Given the description of an element on the screen output the (x, y) to click on. 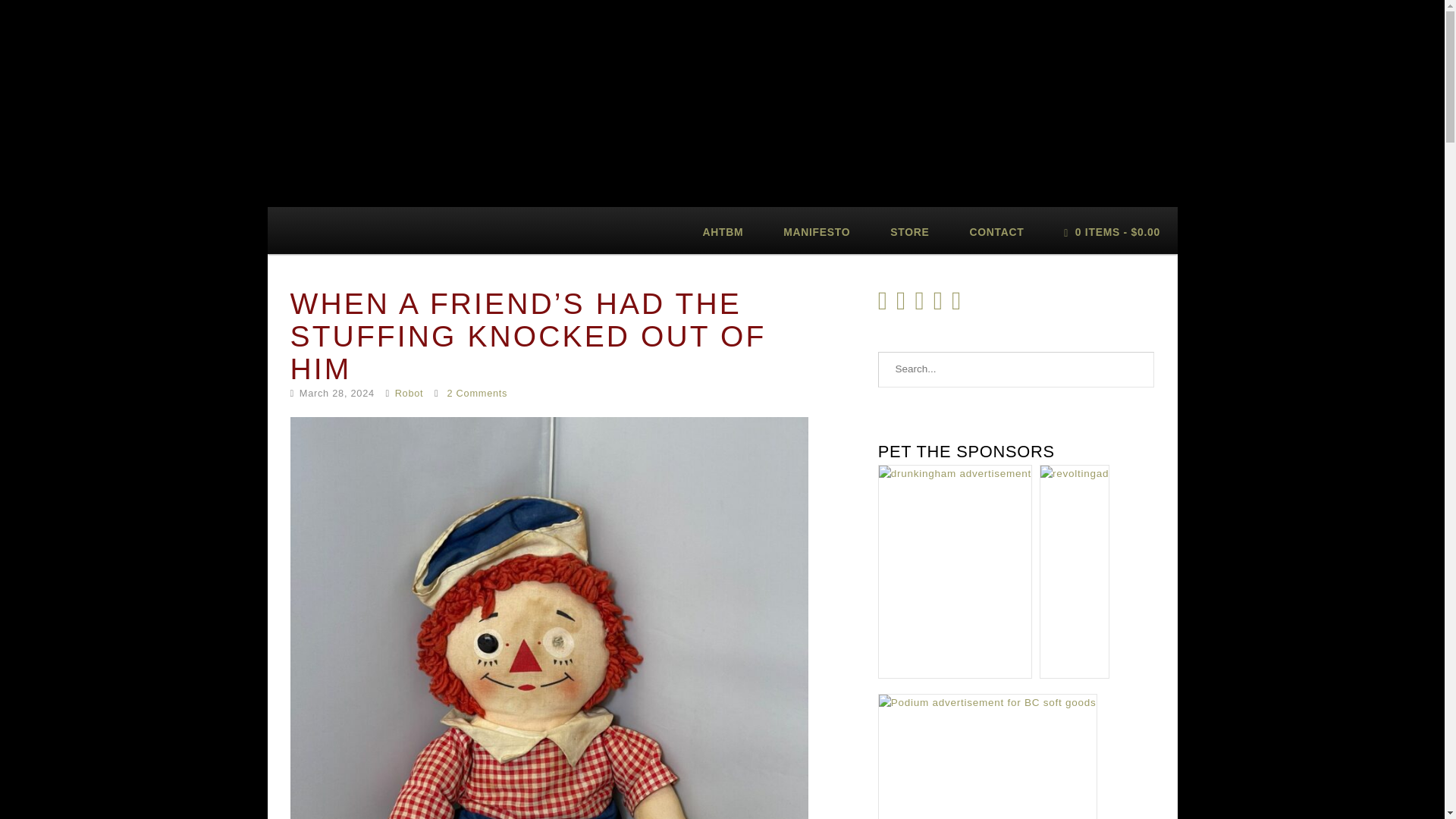
Search (1136, 370)
Robot (408, 392)
AHTBM (722, 230)
STORE (909, 230)
MANIFESTO (817, 230)
Posts by Robot (408, 392)
Search (1136, 370)
2 Comments (476, 392)
View your shopping cart (1111, 230)
